Given the description of an element on the screen output the (x, y) to click on. 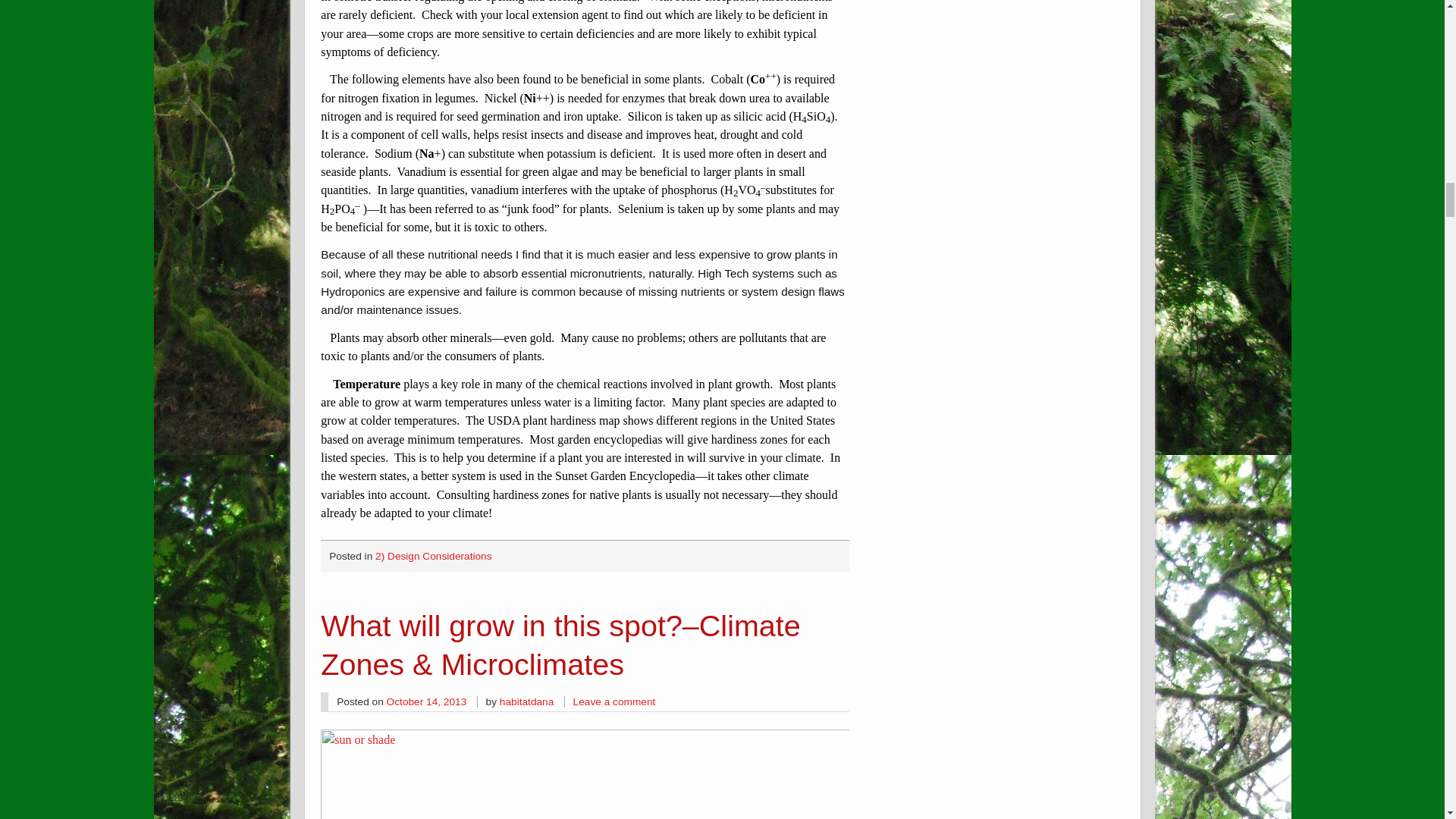
10:35 AM (427, 701)
View all posts by habitatdana (526, 701)
